Given the description of an element on the screen output the (x, y) to click on. 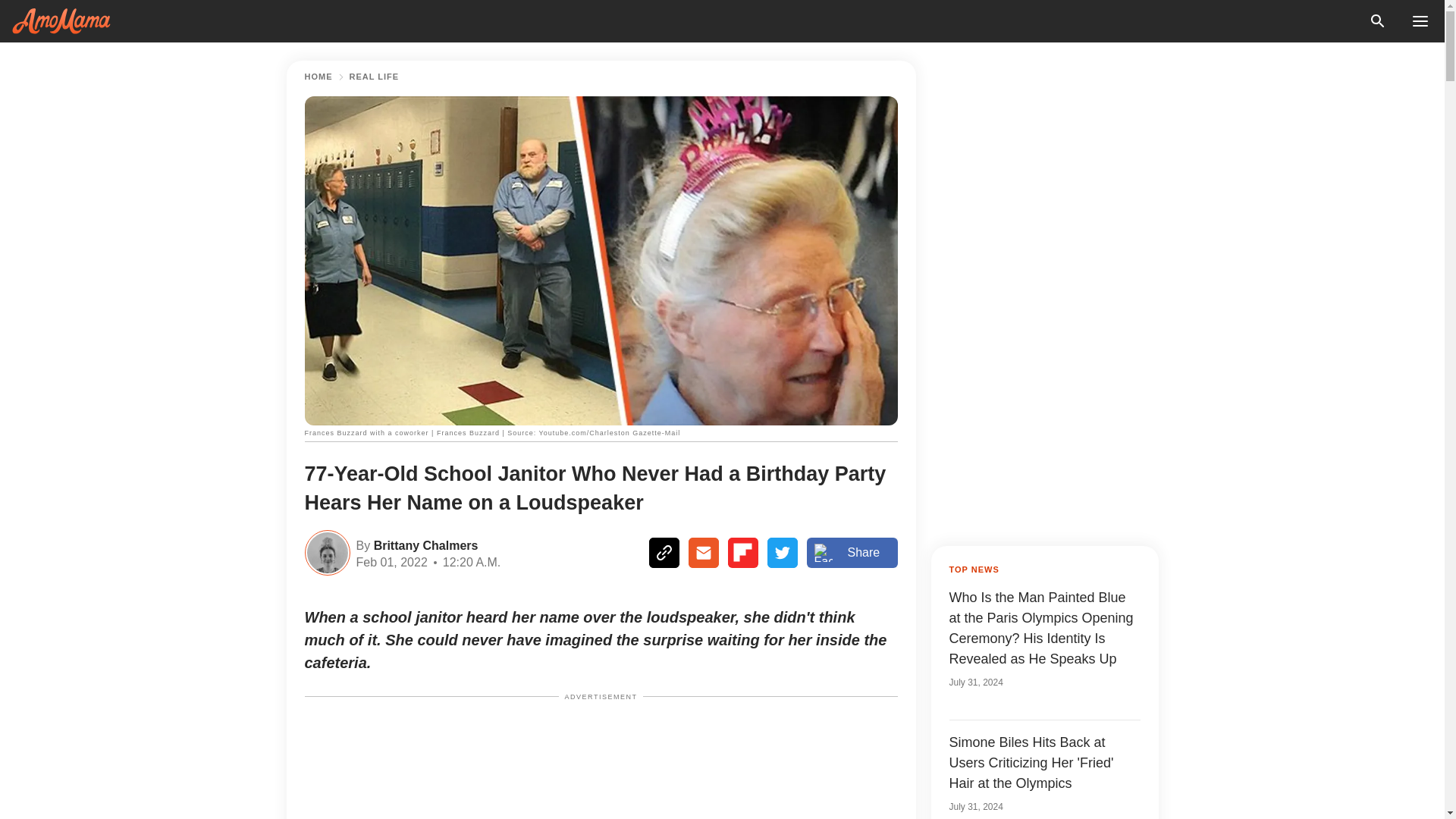
REAL LIFE (373, 76)
HOME (318, 76)
Brittany Chalmers (423, 544)
